Given the description of an element on the screen output the (x, y) to click on. 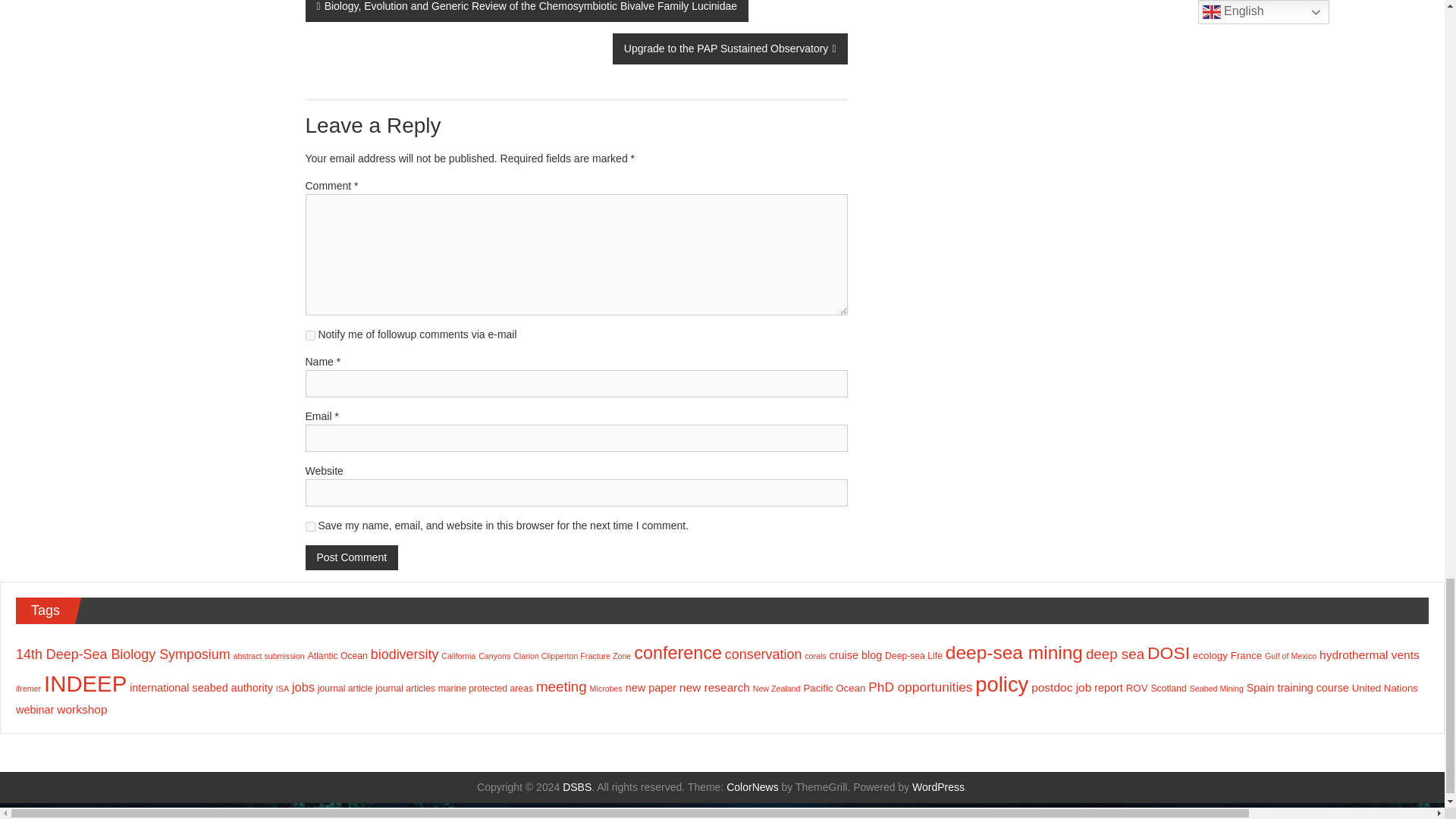
WordPress (937, 787)
yes (309, 526)
Post Comment (350, 557)
DSBS (576, 787)
subscribe (309, 335)
ColorNews (751, 787)
